Given the description of an element on the screen output the (x, y) to click on. 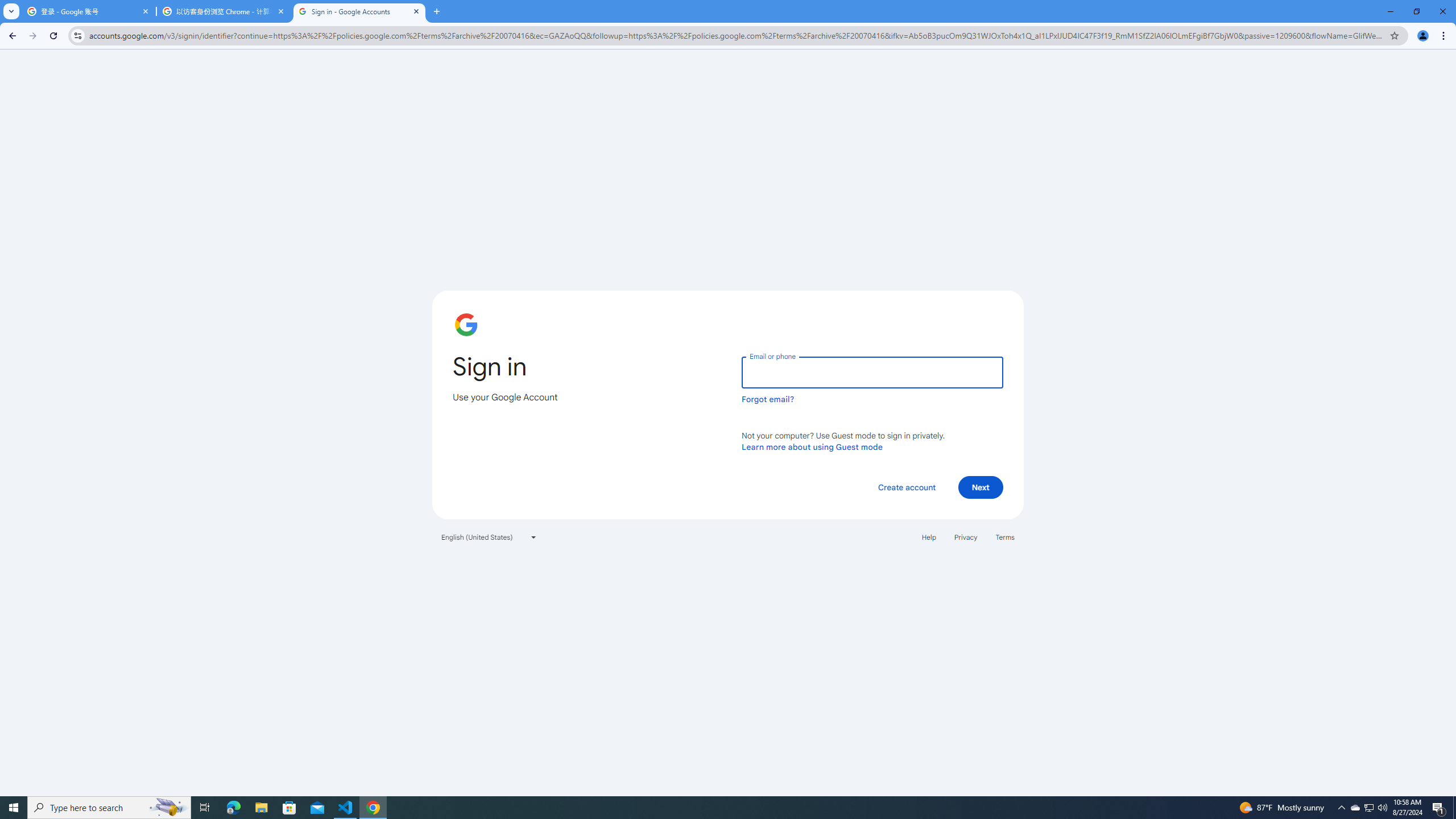
Forgot email? (767, 398)
Sign in - Google Accounts (359, 11)
Email or phone (871, 372)
Next (980, 486)
